Given the description of an element on the screen output the (x, y) to click on. 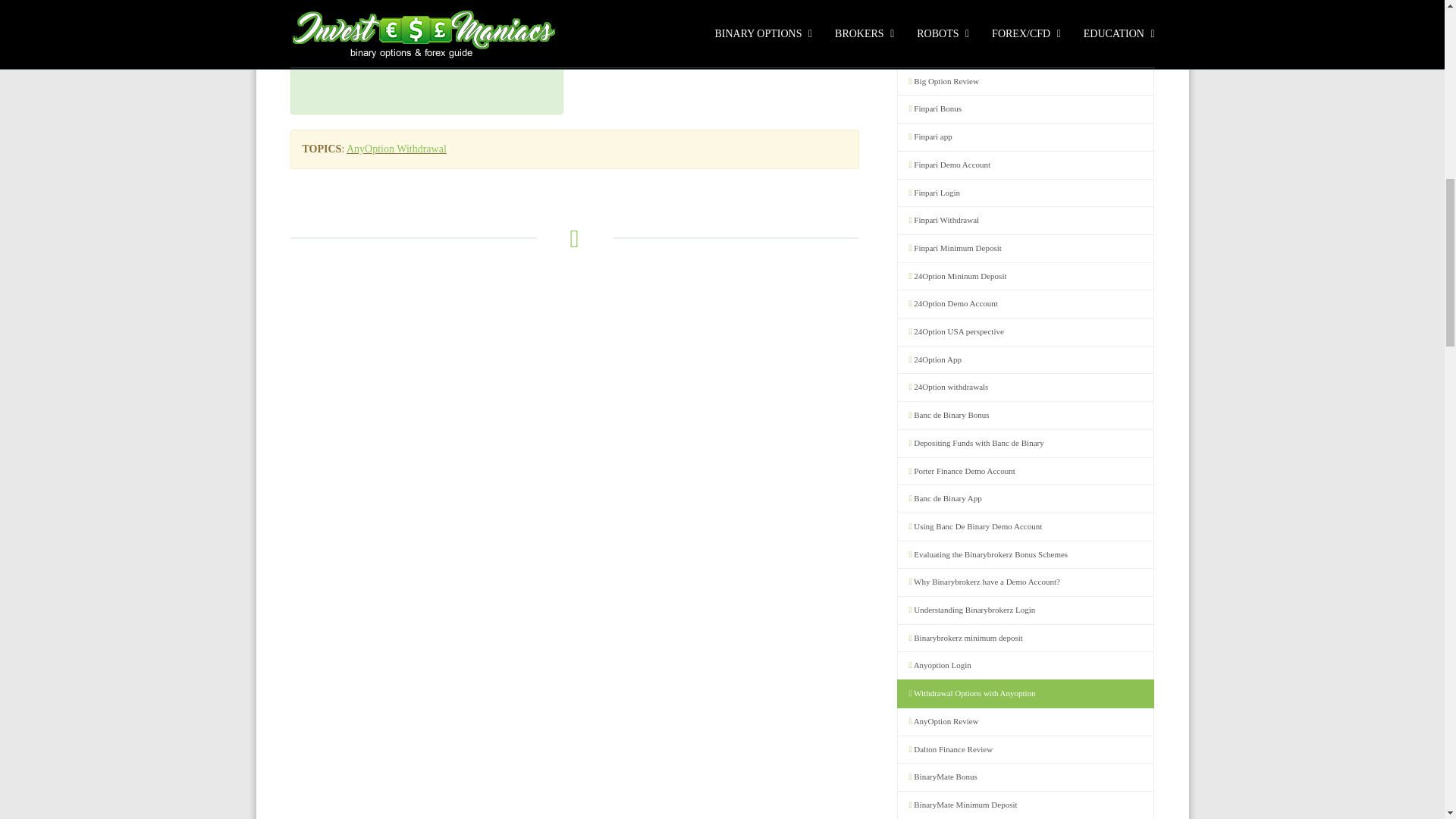
Big Option Review (1025, 81)
